Given the description of an element on the screen output the (x, y) to click on. 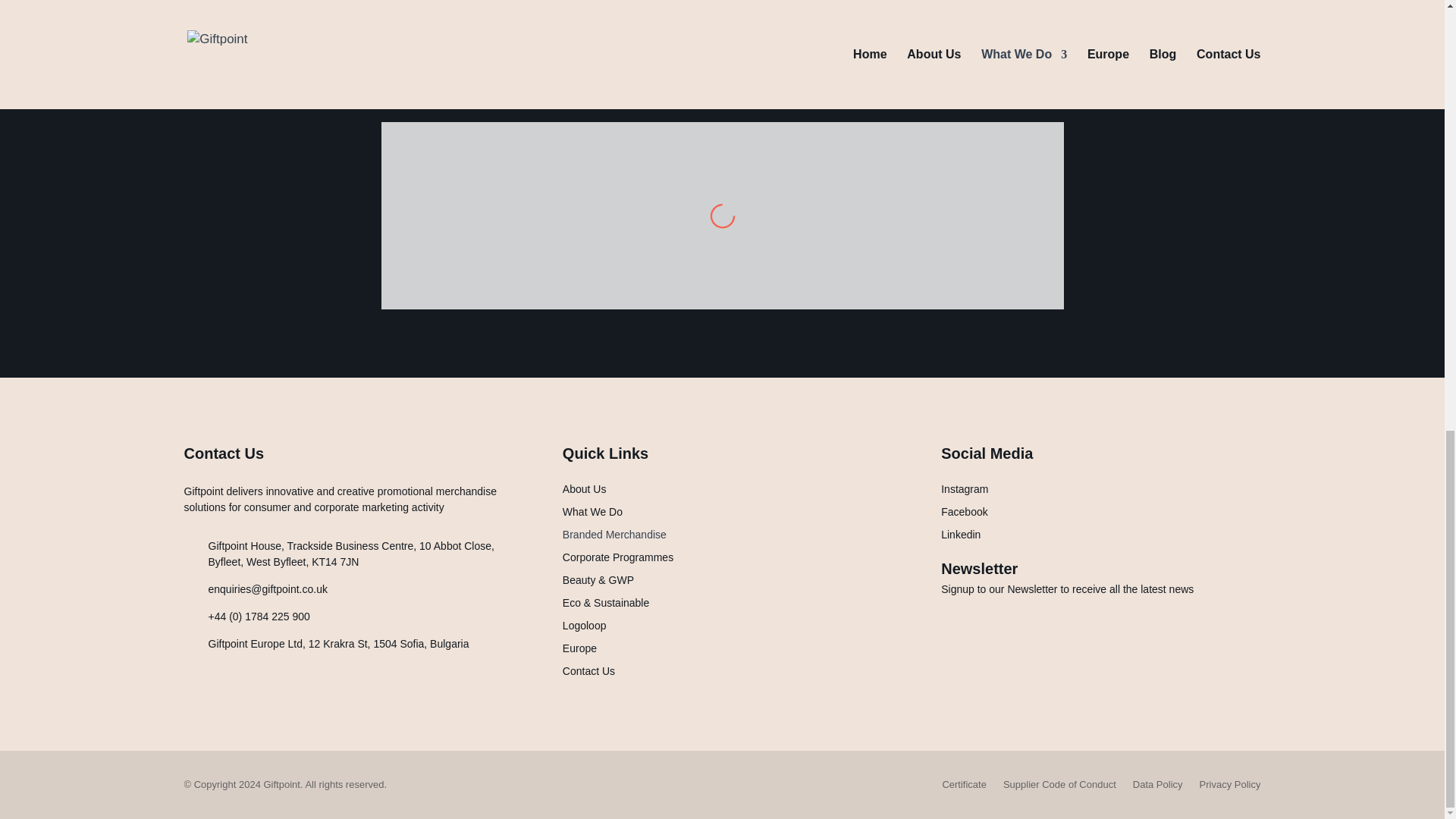
Contact Us (588, 673)
What We Do (592, 514)
Corporate Programmes (617, 560)
Certificate (964, 787)
About Us (584, 492)
Privacy Policy (1229, 787)
Data Policy (1157, 787)
Linkedin (959, 537)
Supplier Code of Conduct (1059, 787)
Facebook (963, 514)
